Given the description of an element on the screen output the (x, y) to click on. 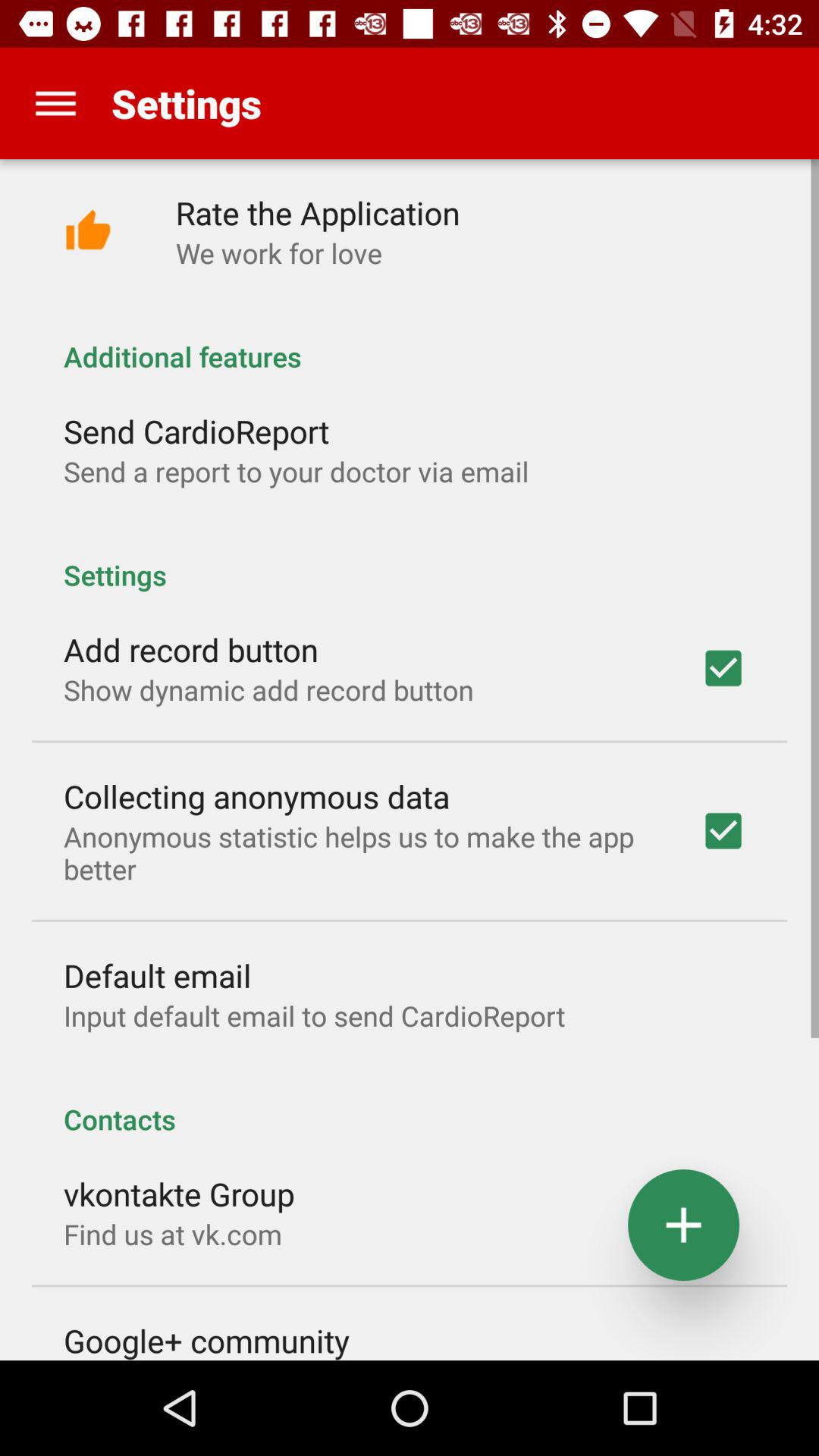
turn off contacts item (409, 1103)
